Given the description of an element on the screen output the (x, y) to click on. 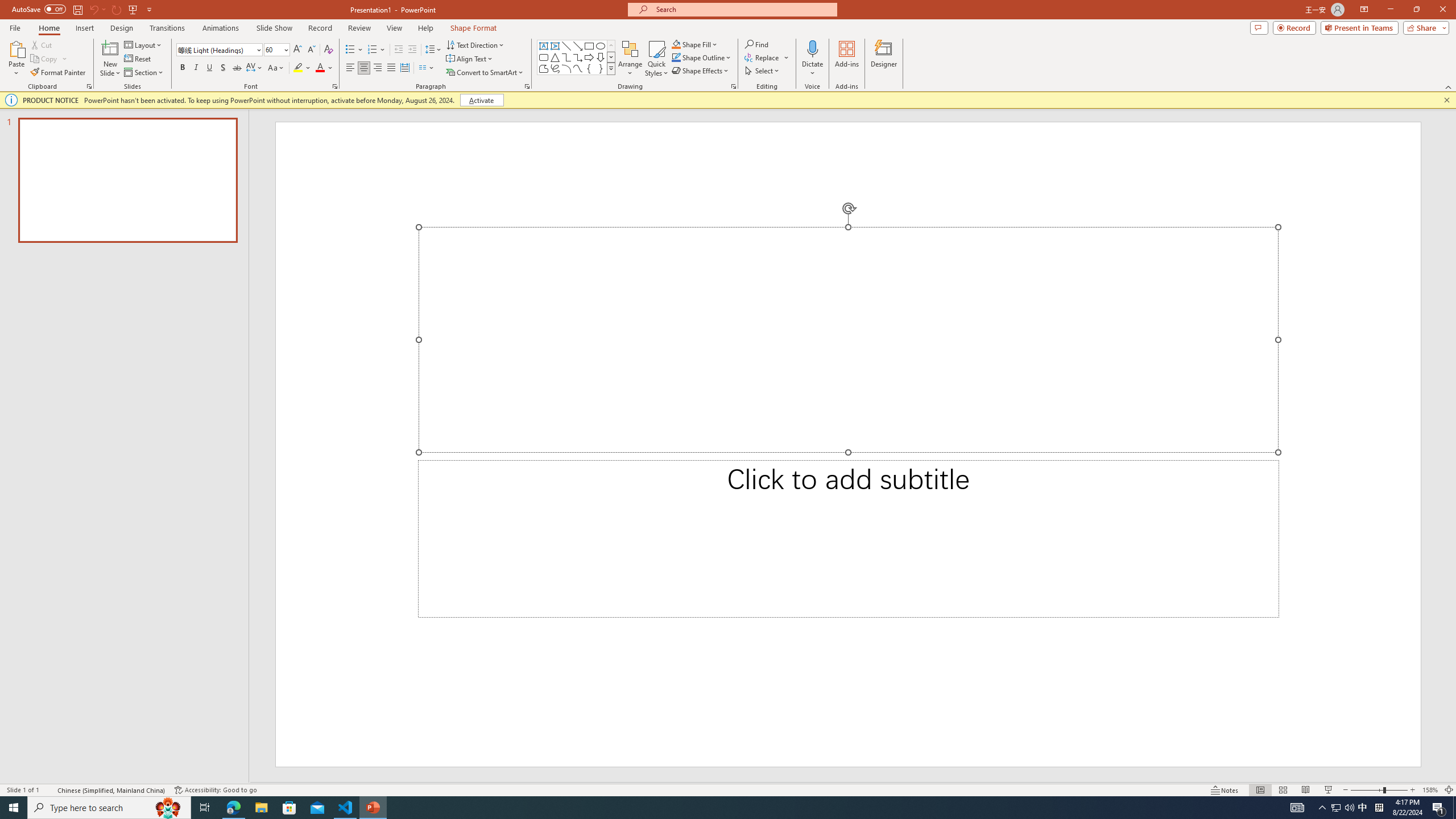
Font Size (276, 49)
Shape Format (473, 28)
Justify (390, 67)
Microsoft search (742, 9)
Paragraph... (526, 85)
Arrow: Right (589, 57)
Connector: Elbow (566, 57)
Paste (16, 58)
Text Highlight Color Yellow (297, 67)
Curve (577, 68)
Activate (481, 100)
From Beginning (133, 9)
Line Spacing (433, 49)
